Given the description of an element on the screen output the (x, y) to click on. 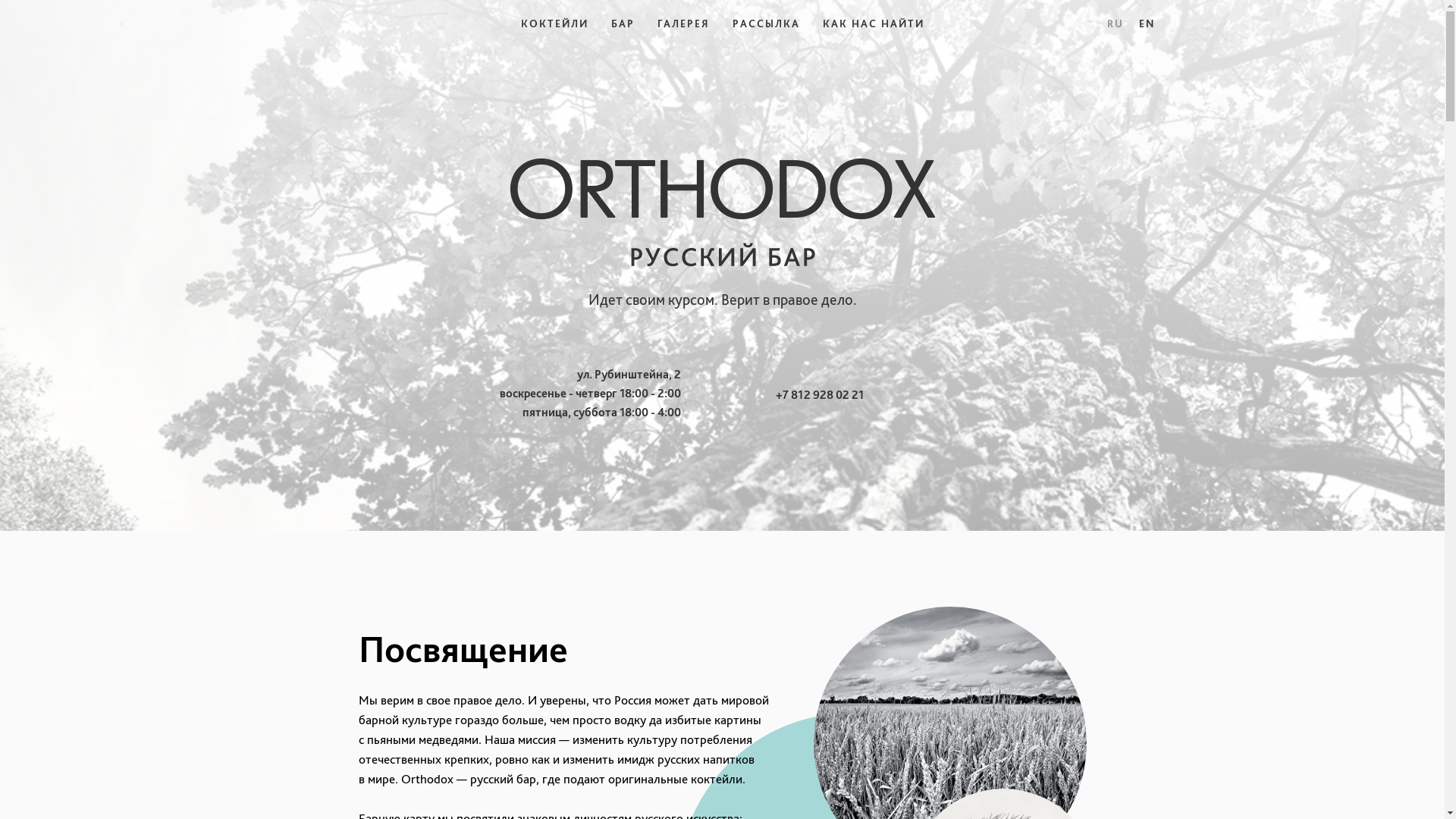
RU Element type: text (1115, 22)
EN Element type: text (1146, 22)
